Given the description of an element on the screen output the (x, y) to click on. 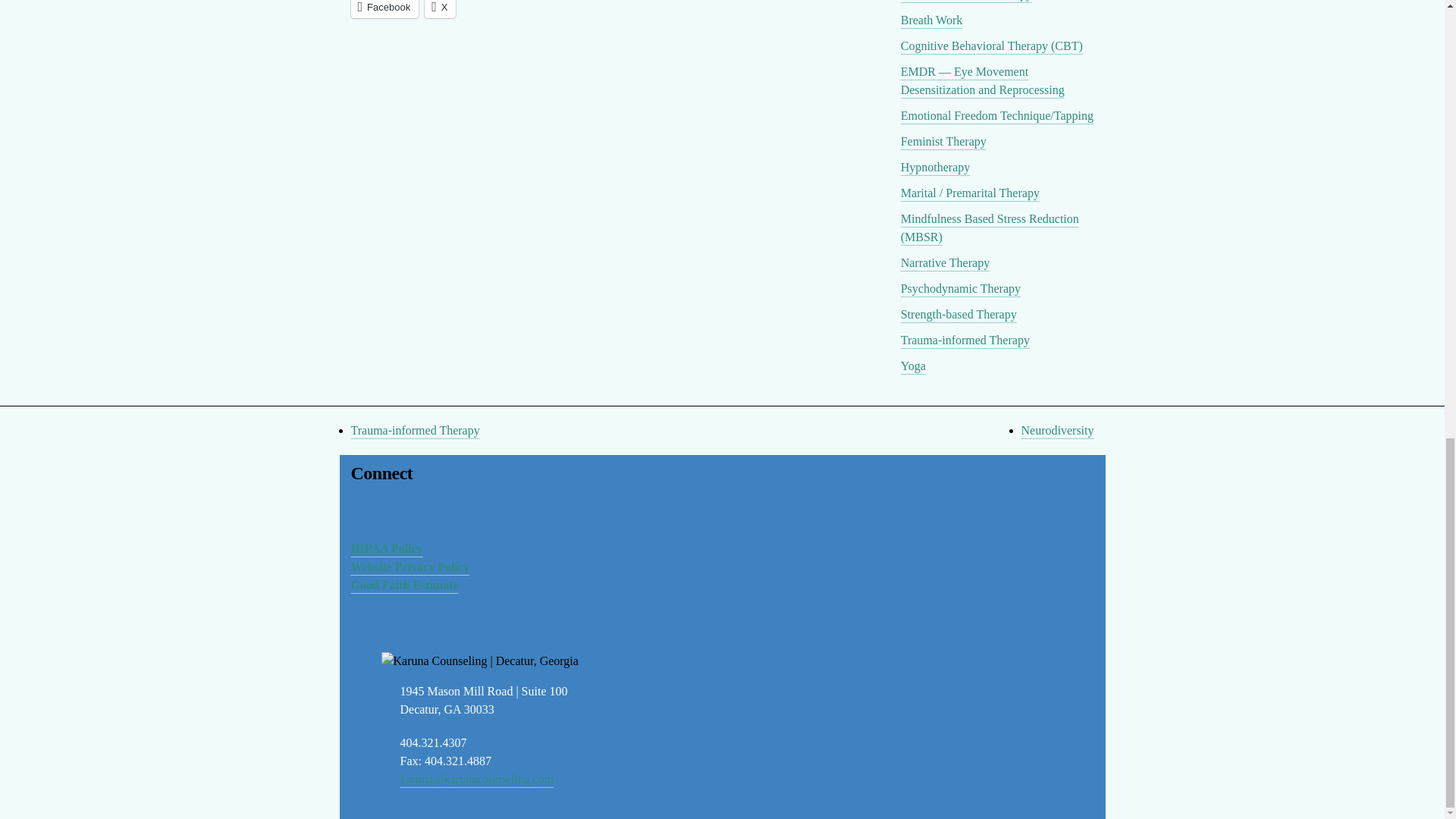
Click to share on X (440, 9)
Facebook (384, 9)
Click to share on Facebook (384, 9)
X (440, 9)
